Given the description of an element on the screen output the (x, y) to click on. 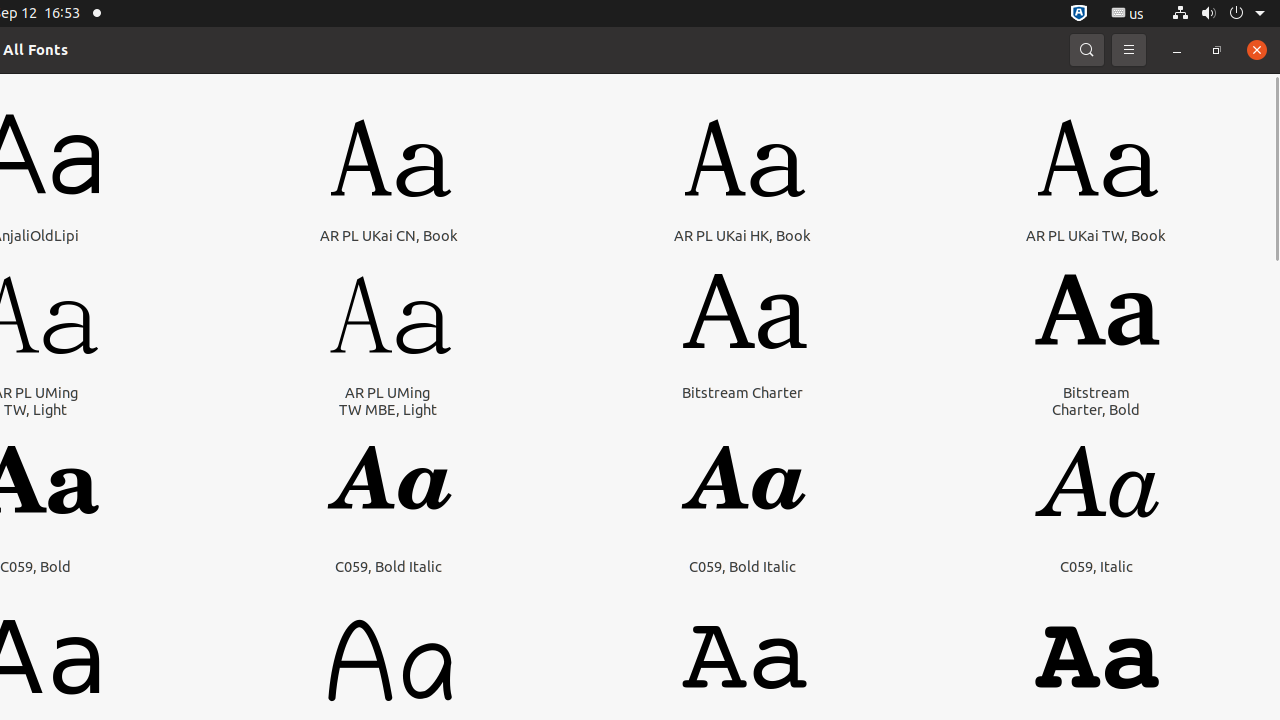
AR PL UKai HK, Book Element type: label (742, 235)
Close Element type: push-button (1257, 50)
AR PL UKai CN, Book Element type: label (389, 235)
